Given the description of an element on the screen output the (x, y) to click on. 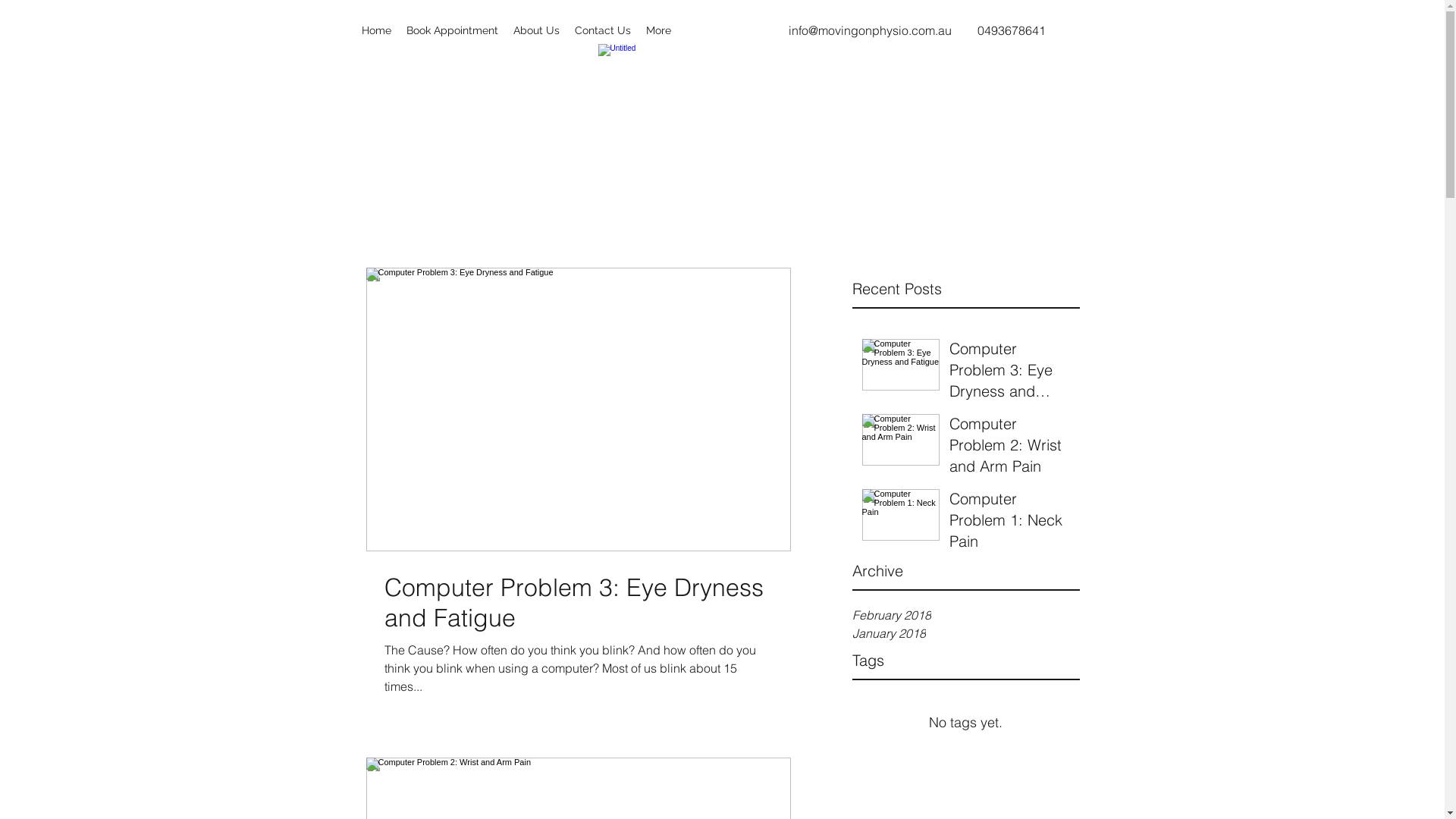
info@movingonphysio.com.au Element type: text (869, 29)
More Element type: text (658, 29)
February 2018 Element type: text (965, 614)
Home Element type: text (375, 29)
Contact Us Element type: text (602, 29)
About Us Element type: text (535, 29)
Computer Problem 3: Eye Dryness and Fatigue Element type: text (577, 602)
January 2018 Element type: text (965, 633)
Computer Problem 3: Eye Dryness and Fatigue Element type: text (1009, 372)
Computer Problem 1: Neck Pain Element type: text (1009, 523)
Book Appointment Element type: text (451, 29)
Computer Problem 2: Wrist and Arm Pain Element type: text (1009, 448)
